Given the description of an element on the screen output the (x, y) to click on. 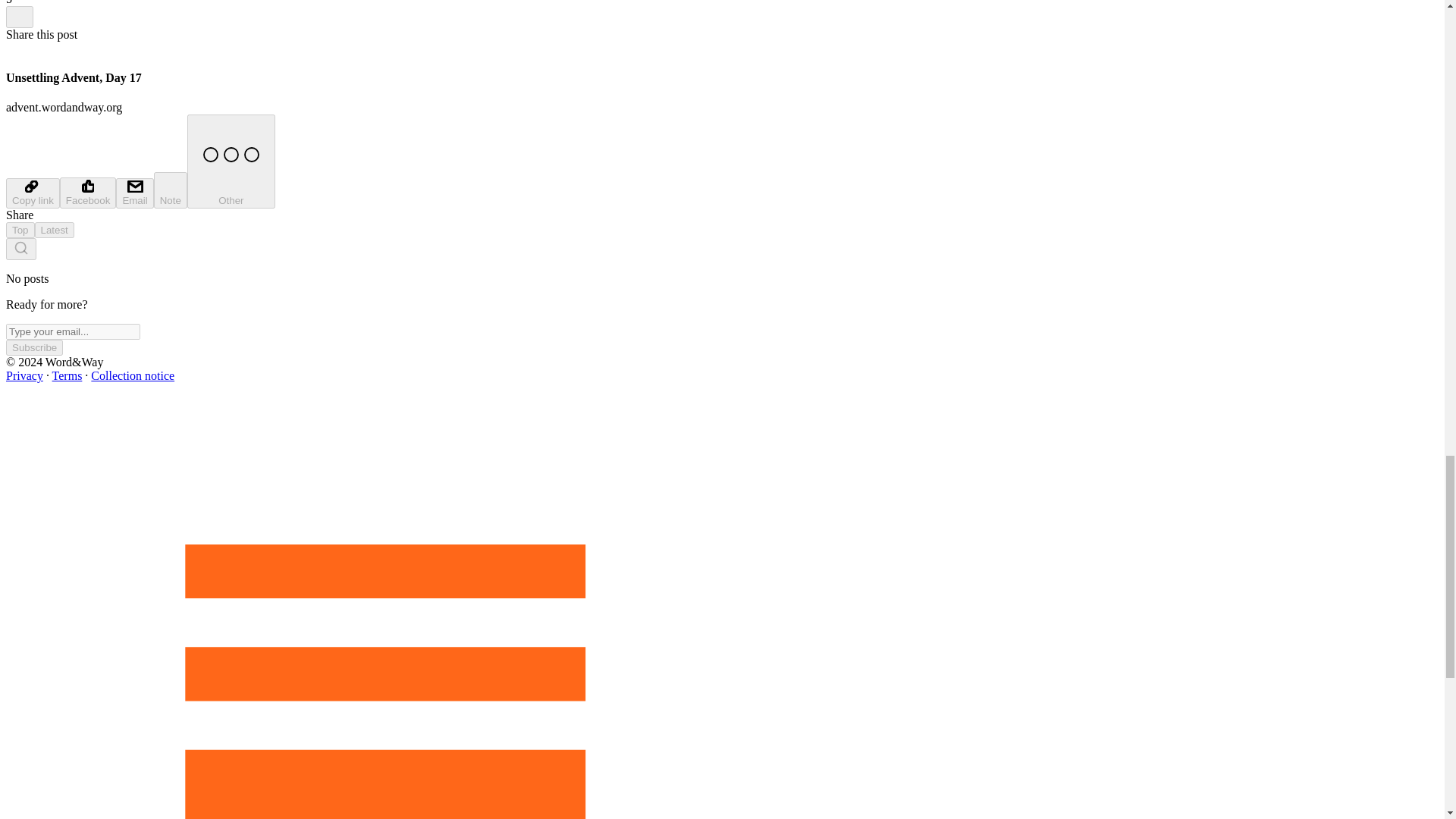
Note (170, 189)
Other (231, 161)
Copy link (32, 193)
Top (19, 229)
Facebook (87, 192)
Email (134, 193)
